Given the description of an element on the screen output the (x, y) to click on. 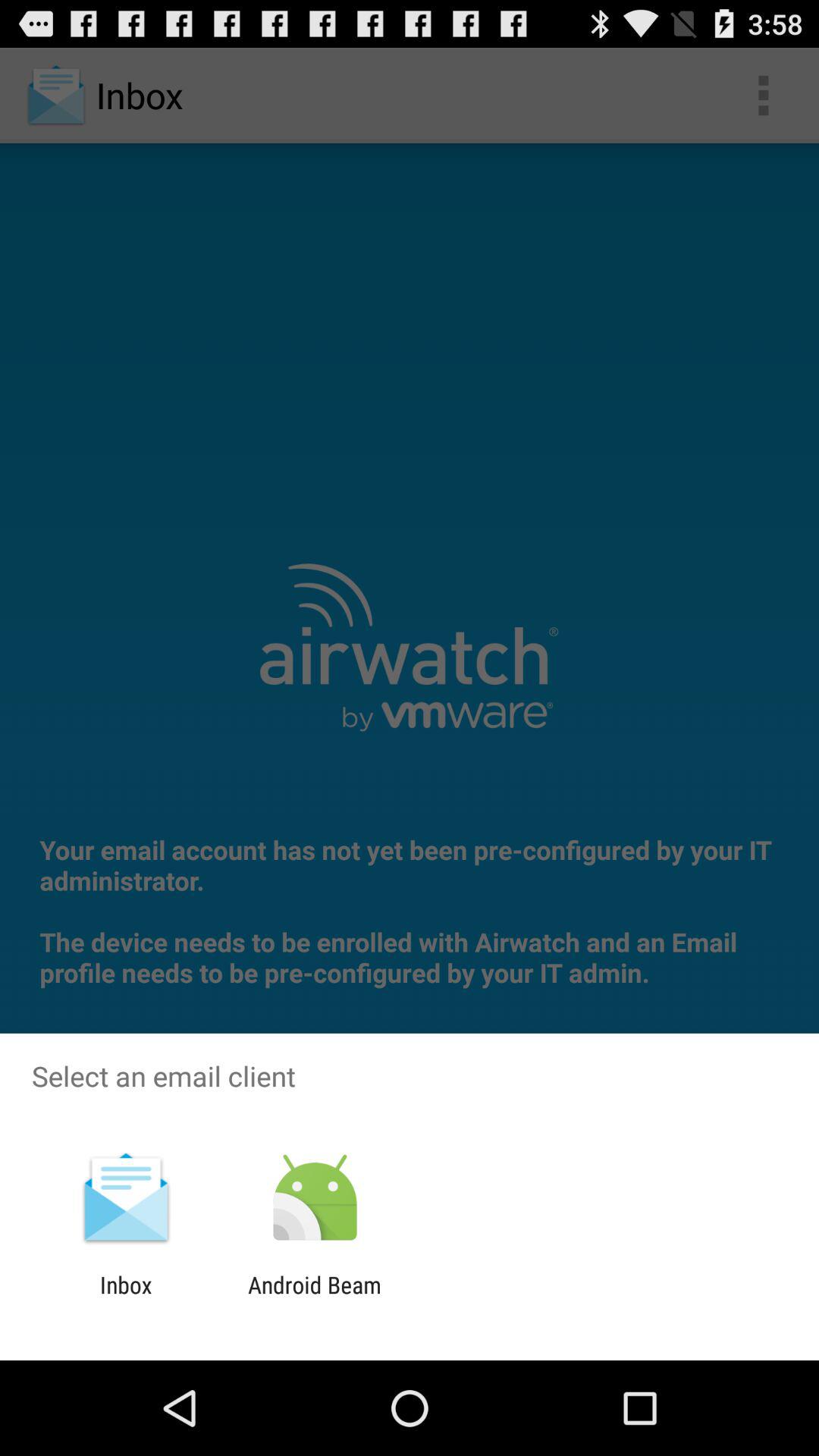
press the app next to the android beam icon (125, 1298)
